Given the description of an element on the screen output the (x, y) to click on. 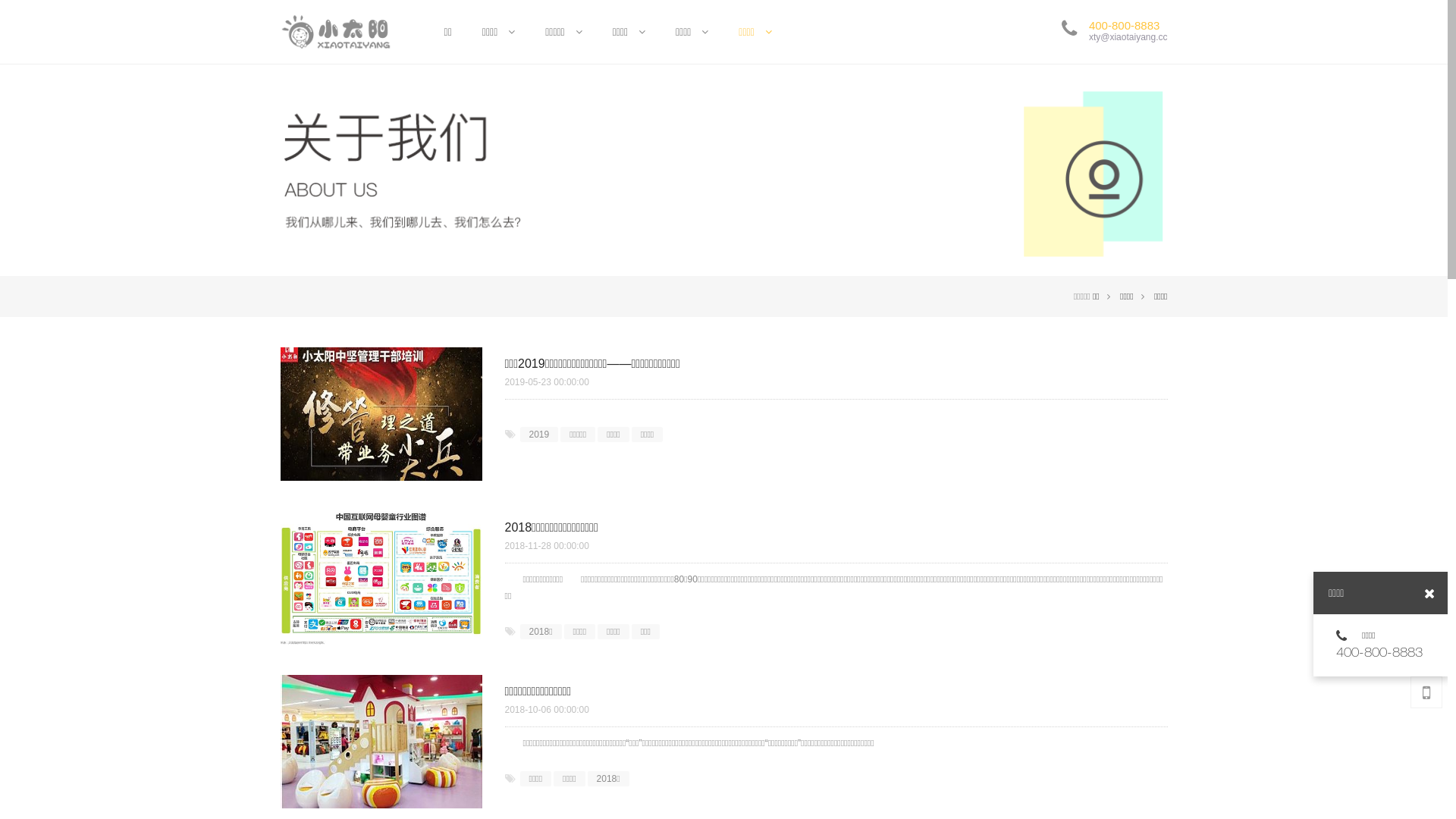
xty@xiaotaiyang.cc Element type: text (1127, 36)
2019 Element type: text (539, 434)
